Given the description of an element on the screen output the (x, y) to click on. 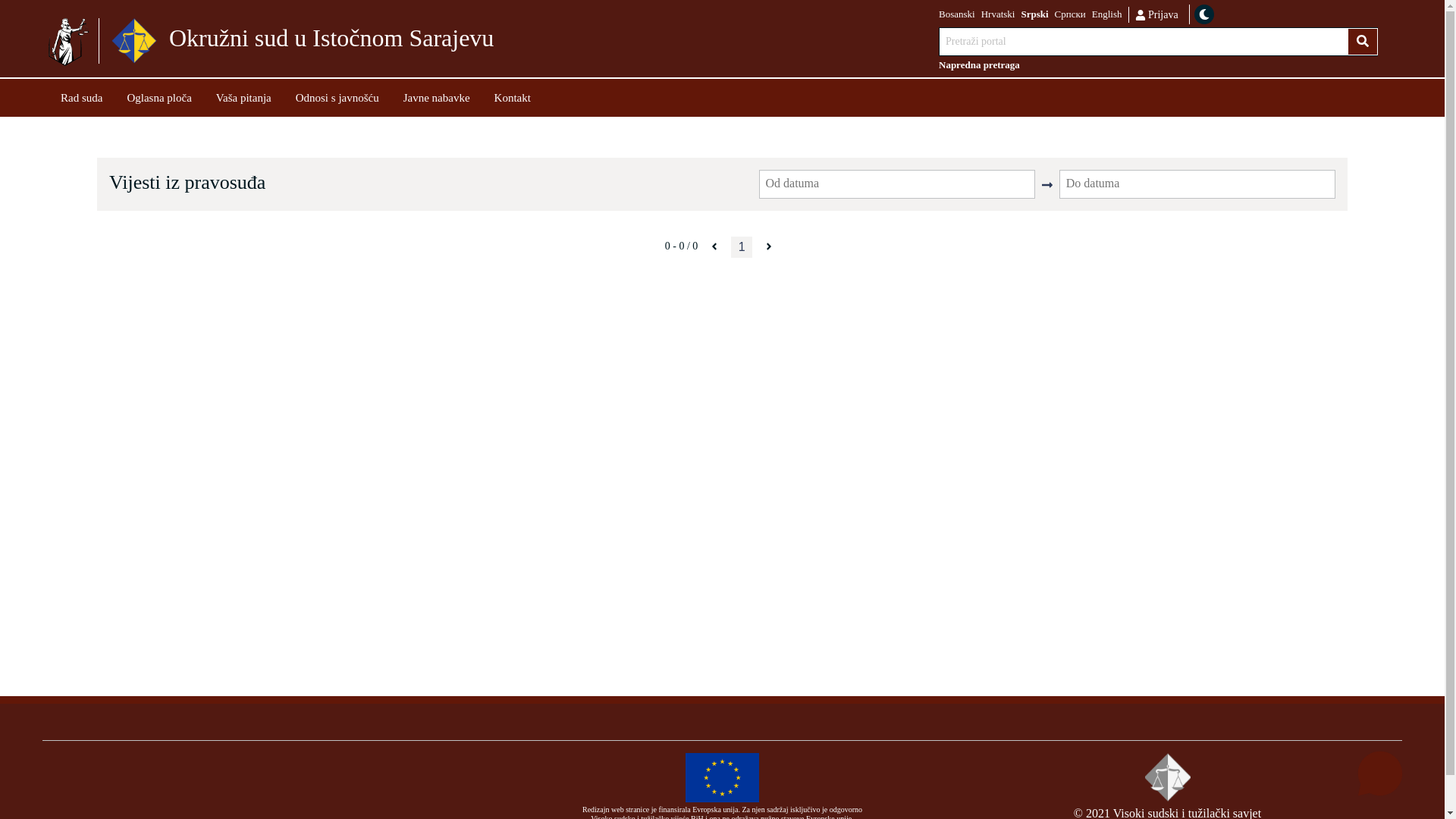
Kontakt Element type: text (512, 97)
Napredna pretraga Element type: text (1157, 65)
Rad suda Element type: text (81, 97)
Javne nabavke Element type: text (436, 97)
Prijava Element type: text (1155, 13)
